Given the description of an element on the screen output the (x, y) to click on. 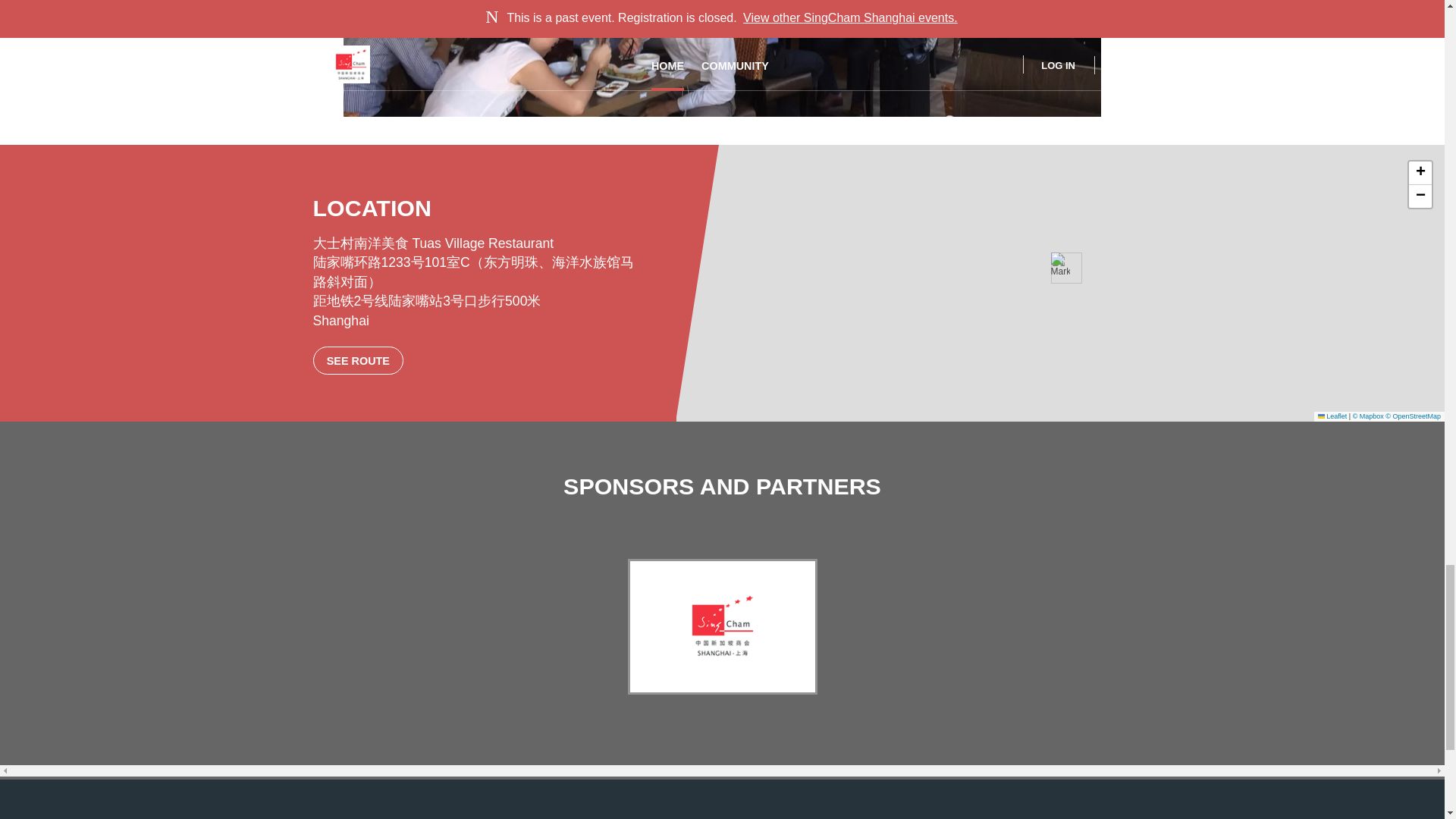
A JavaScript library for interactive maps (1332, 416)
Leaflet (1332, 416)
Zoom in (1420, 173)
SEE ROUTE (358, 360)
Zoom out (1420, 196)
